Given the description of an element on the screen output the (x, y) to click on. 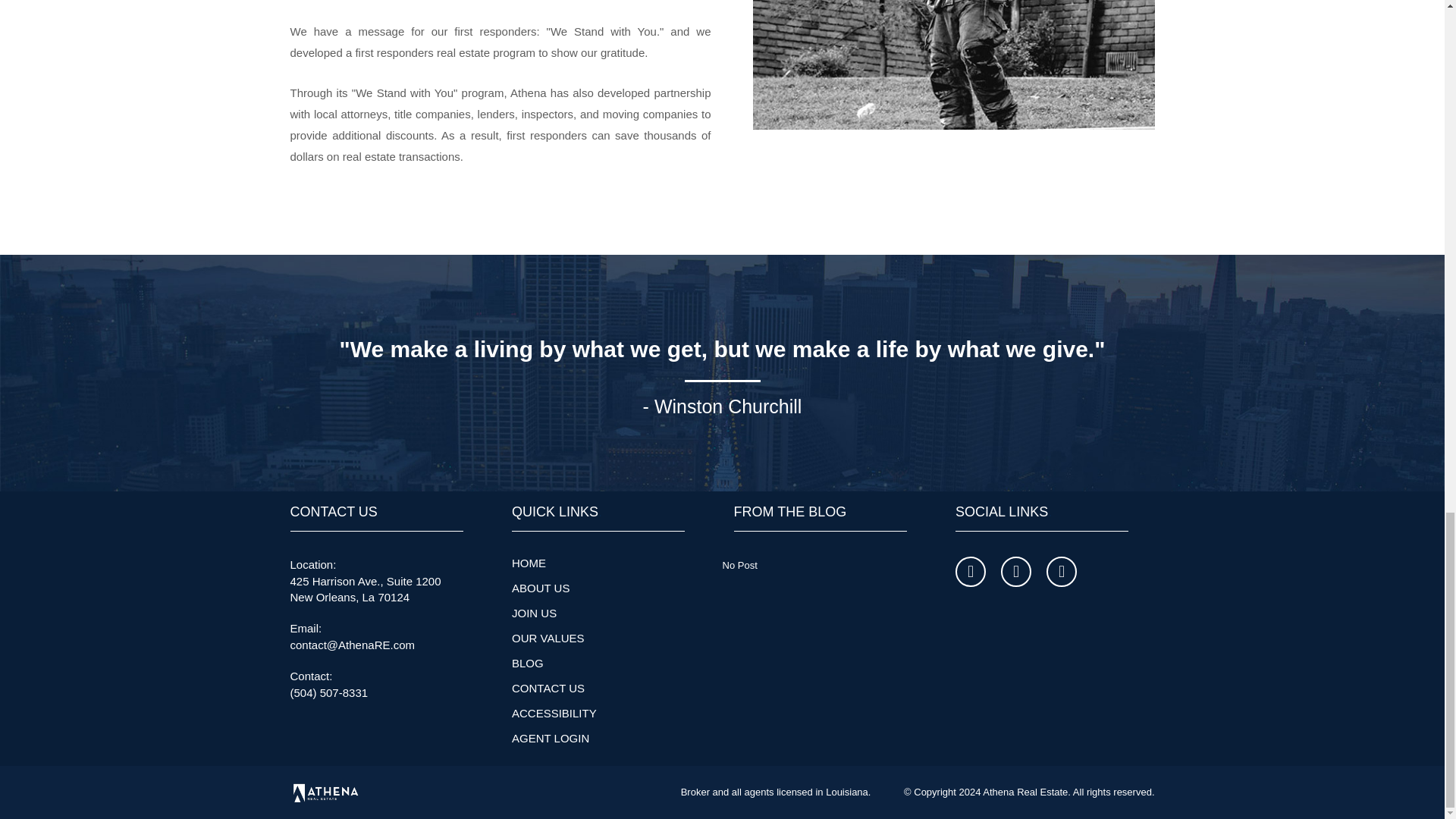
HOME (529, 562)
CONTACT US (548, 687)
JOIN US (534, 612)
Facebook (970, 571)
AGENT LOGIN (550, 738)
Twitter (1015, 571)
LinkedIn (1061, 571)
ACCESSIBILITY (554, 712)
ABOUT US (540, 587)
BLOG (527, 662)
OUR VALUES (548, 637)
